Given the description of an element on the screen output the (x, y) to click on. 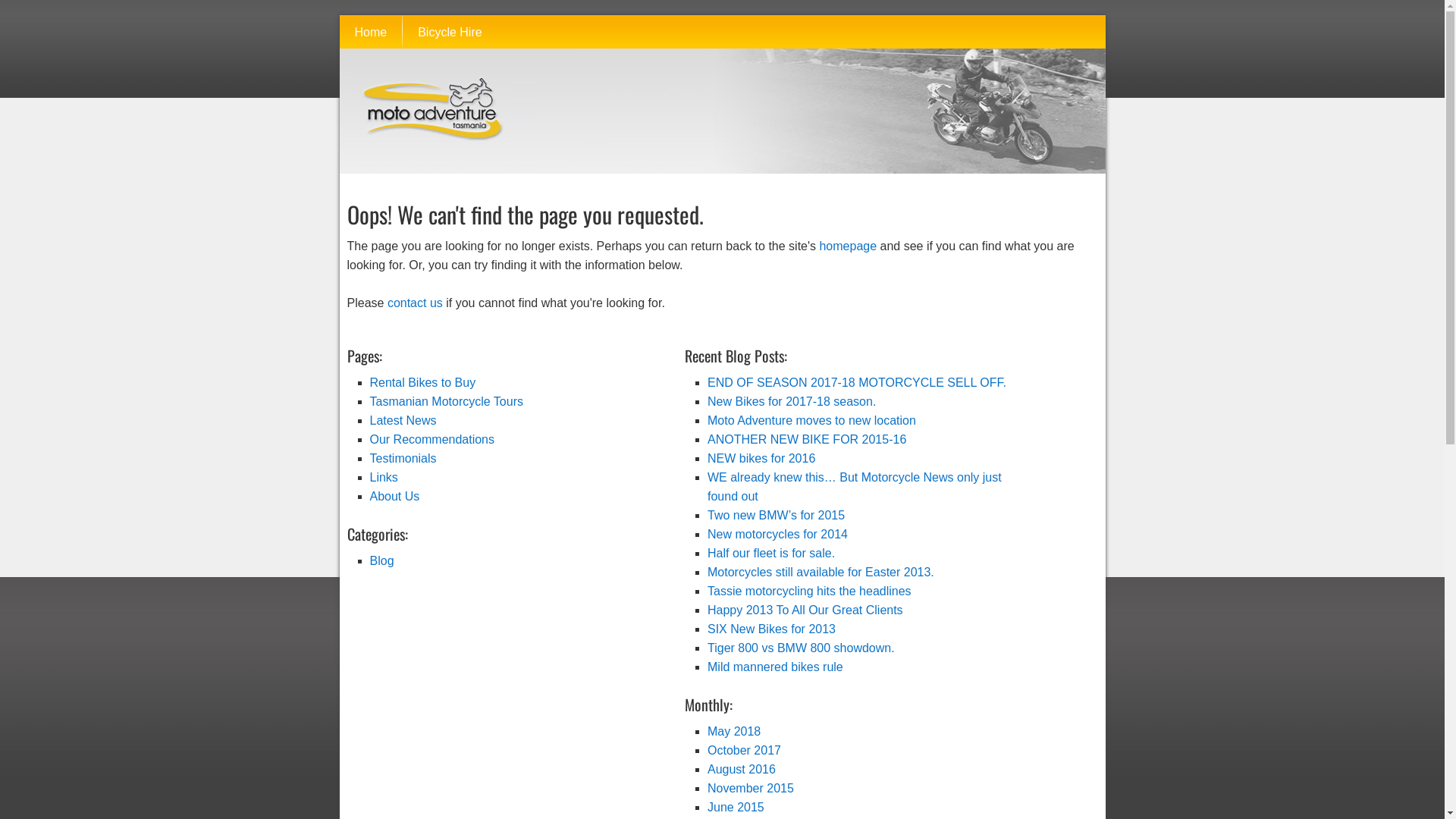
Home Element type: text (370, 31)
About Us Element type: text (395, 495)
contact us Element type: text (414, 301)
ANOTHER NEW BIKE FOR 2015-16 Element type: text (806, 438)
END OF SEASON 2017-18 MOTORCYCLE SELL OFF. Element type: text (856, 382)
New Bikes for 2017-18 season. Element type: text (791, 400)
Rental Bikes to Buy Element type: text (423, 382)
Moto Adventure moves to new location Element type: text (811, 420)
August 2016 Element type: text (741, 768)
Tiger 800 vs BMW 800 showdown. Element type: text (800, 647)
NEW bikes for 2016 Element type: text (761, 457)
Tassie motorcycling hits the headlines Element type: text (809, 589)
Motorcycles still available for Easter 2013. Element type: text (820, 571)
Mild mannered bikes rule Element type: text (775, 665)
Happy 2013 To All Our Great Clients Element type: text (805, 609)
Our Recommendations Element type: text (432, 438)
Bicycle Hire Element type: text (449, 31)
Half our fleet is for sale. Element type: text (770, 552)
Motorcycle Hire Rental Tasmania Element type: hover (426, 161)
Links Element type: text (384, 476)
Tasmanian Motorcycle Tours Element type: text (446, 400)
November 2015 Element type: text (750, 787)
Latest News Element type: text (403, 420)
May 2018 Element type: text (733, 730)
June 2015 Element type: text (735, 806)
Blog Element type: text (382, 559)
New motorcycles for 2014 Element type: text (777, 533)
October 2017 Element type: text (744, 749)
SIX New Bikes for 2013 Element type: text (771, 627)
Testimonials Element type: text (403, 457)
homepage Element type: text (847, 245)
